Given the description of an element on the screen output the (x, y) to click on. 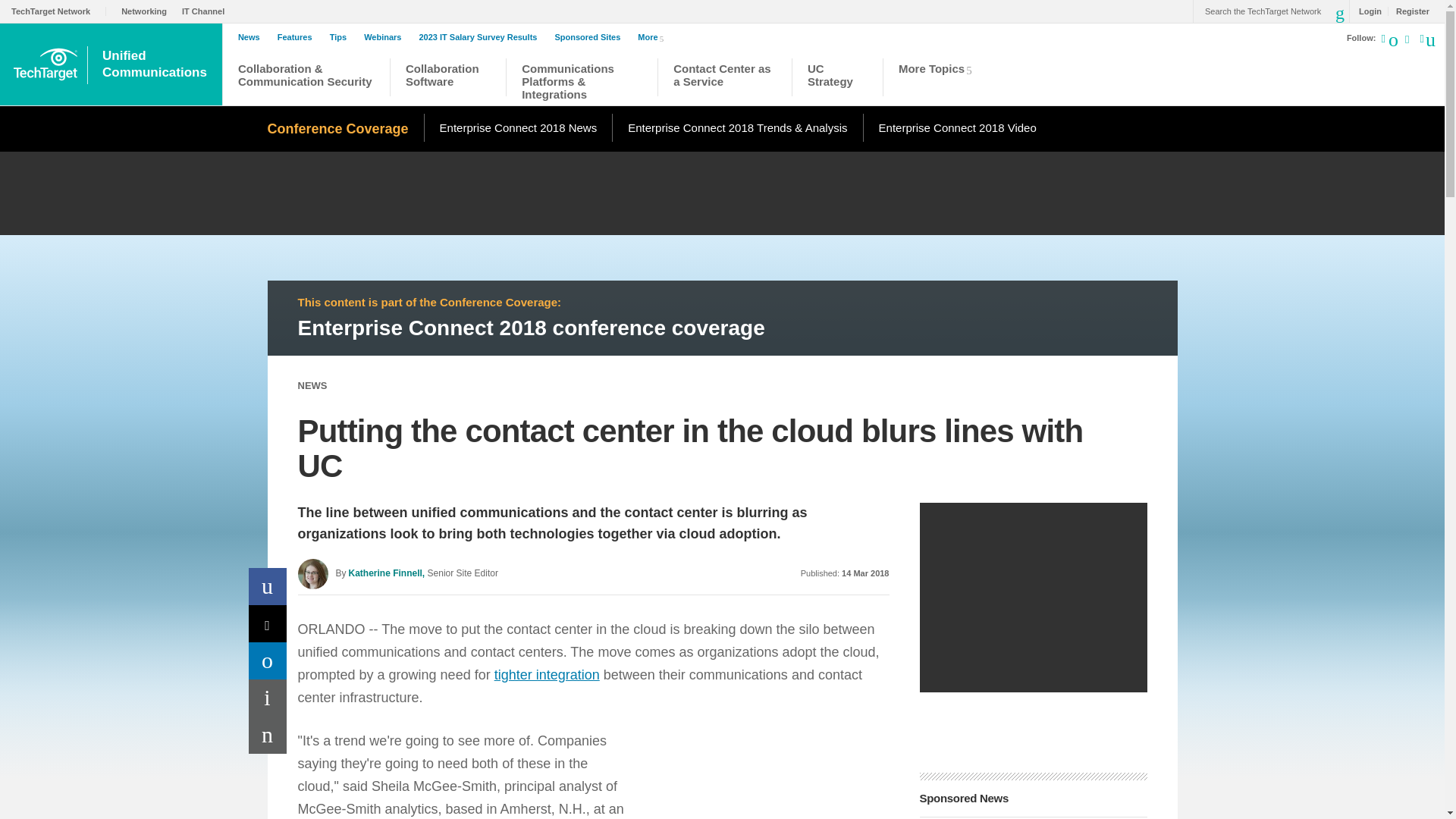
Email a Friend (267, 734)
Webinars (386, 36)
Collaboration Software (448, 79)
Login (1366, 10)
News (252, 36)
More (653, 36)
UC Strategy (837, 79)
Share on Facebook (267, 586)
Networking (147, 10)
More Topics (939, 79)
Share on LinkedIn (267, 660)
Print This Page (267, 697)
Features (299, 36)
Register (1408, 10)
IT Channel (206, 10)
